Given the description of an element on the screen output the (x, y) to click on. 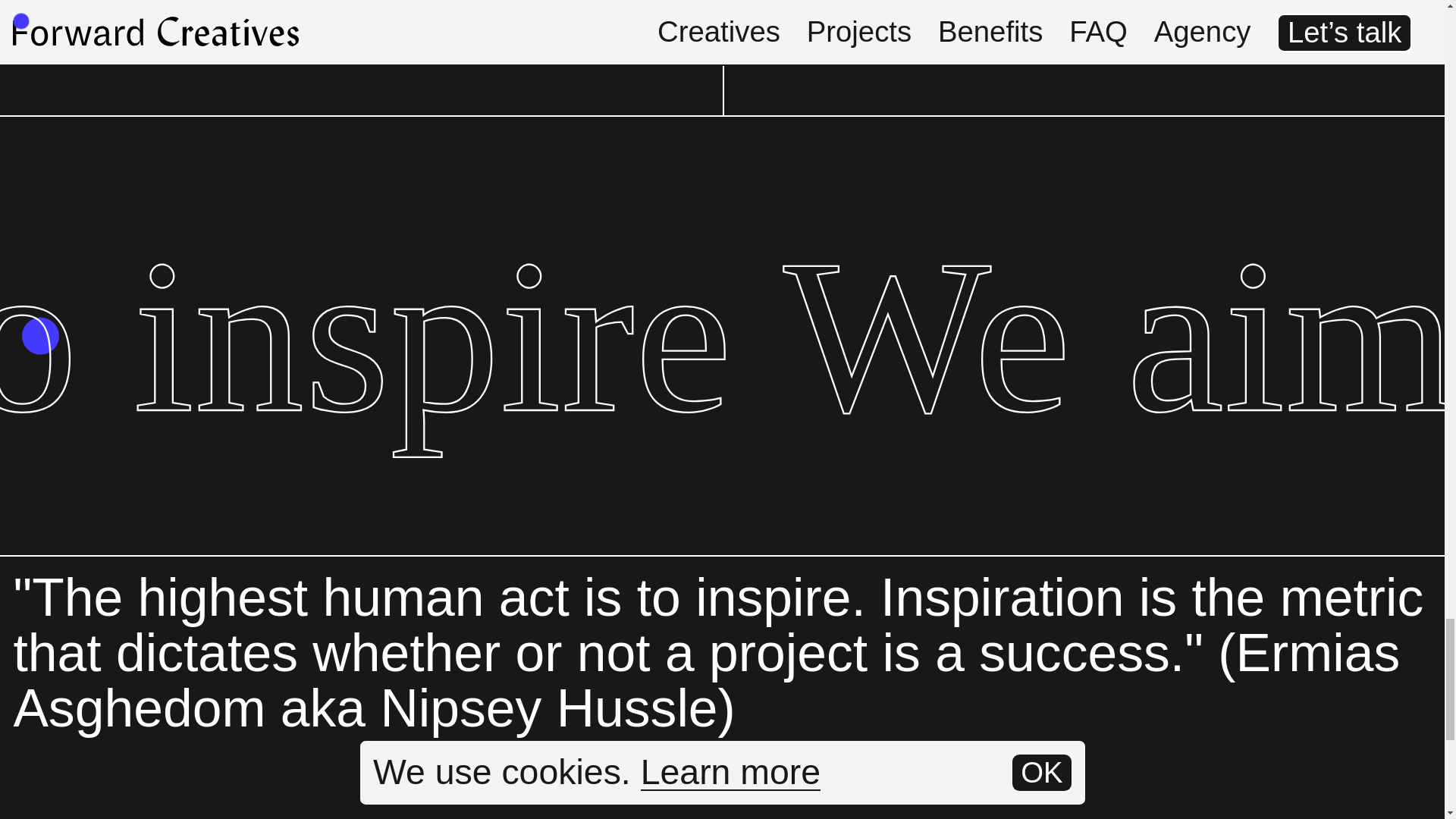
Linkedin (361, 57)
